Given the description of an element on the screen output the (x, y) to click on. 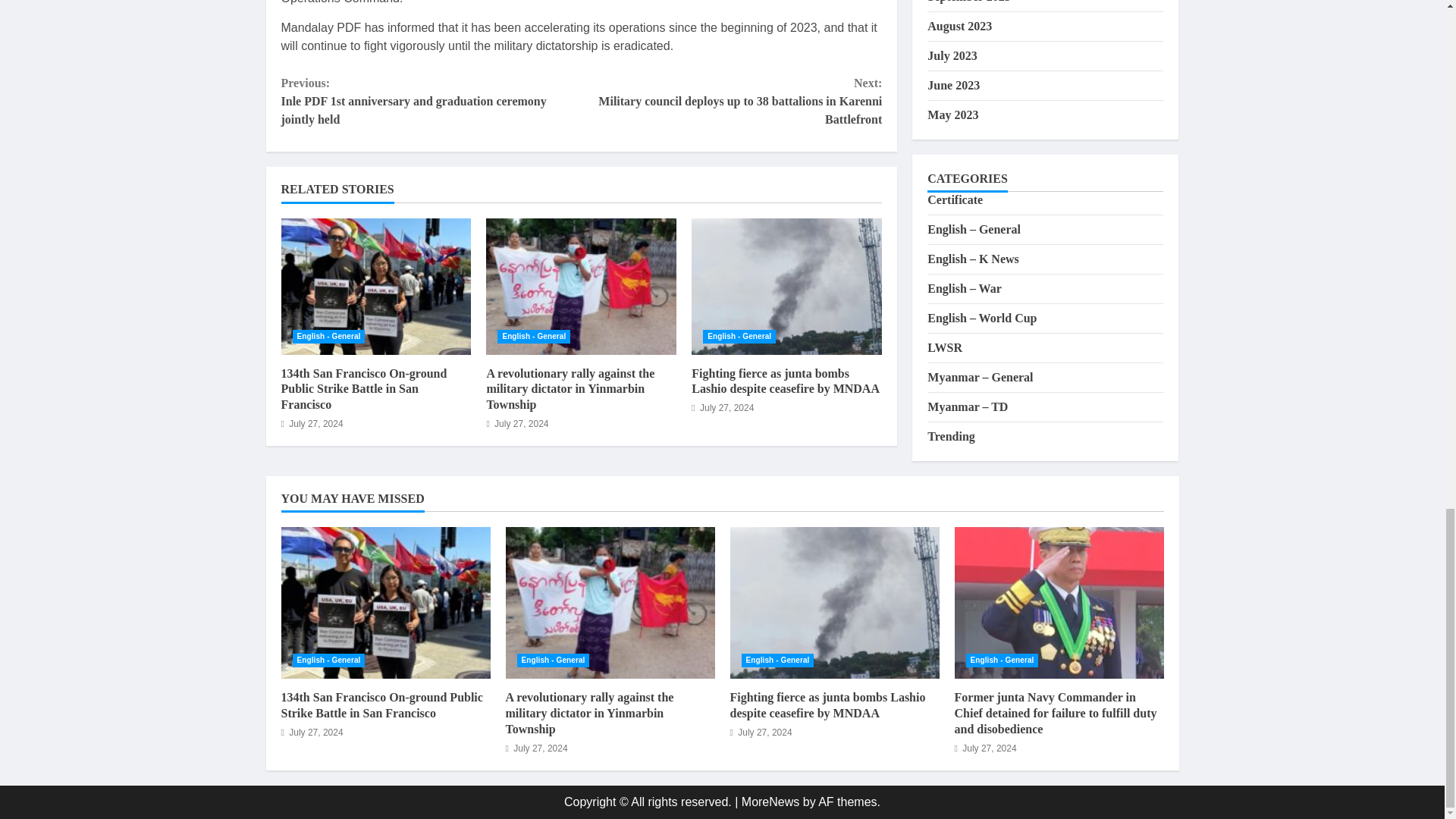
English - General (328, 336)
English - General (739, 336)
English - General (533, 336)
